Given the description of an element on the screen output the (x, y) to click on. 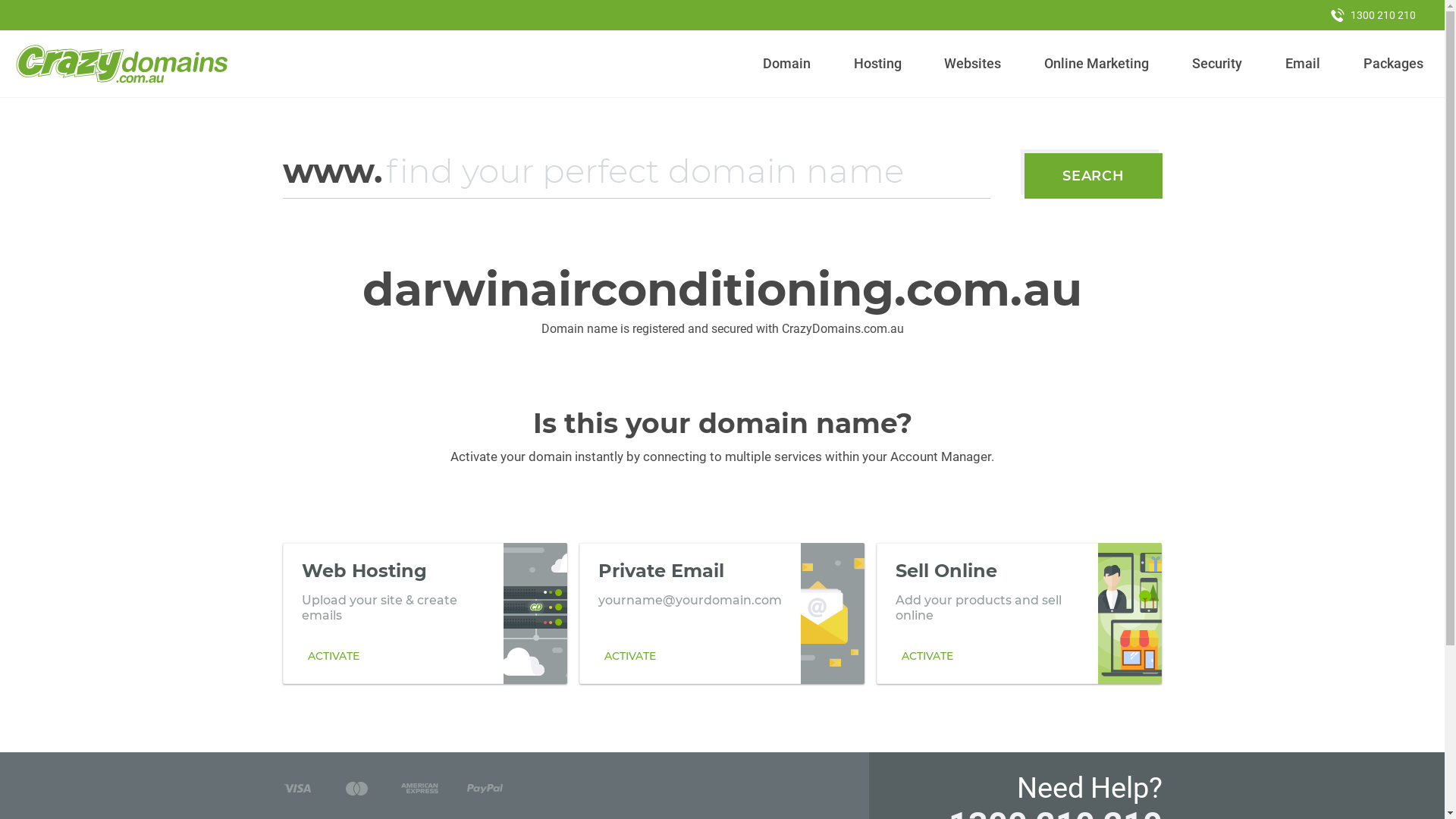
SEARCH Element type: text (1092, 175)
Online Marketing Element type: text (1096, 63)
Private Email
yourname@yourdomain.com
ACTIVATE Element type: text (721, 613)
Security Element type: text (1217, 63)
Packages Element type: text (1392, 63)
Websites Element type: text (972, 63)
Email Element type: text (1302, 63)
1300 210 210 Element type: text (1373, 15)
Domain Element type: text (786, 63)
Hosting Element type: text (877, 63)
Sell Online
Add your products and sell online
ACTIVATE Element type: text (1018, 613)
Web Hosting
Upload your site & create emails
ACTIVATE Element type: text (424, 613)
